Given the description of an element on the screen output the (x, y) to click on. 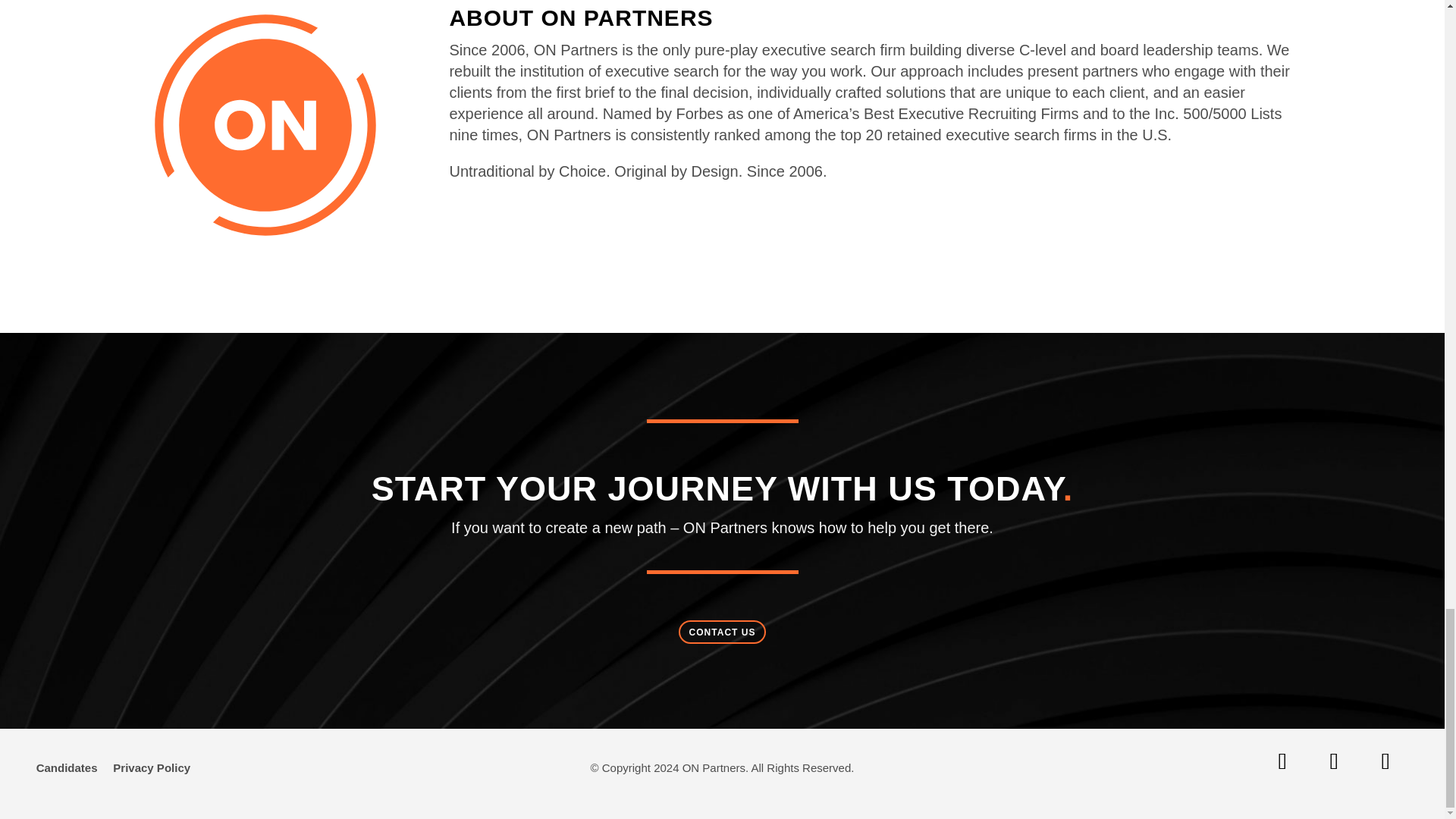
Follow on X (1333, 760)
Follow on Instagram (1384, 760)
Follow on LinkedIn (1281, 760)
